Given the description of an element on the screen output the (x, y) to click on. 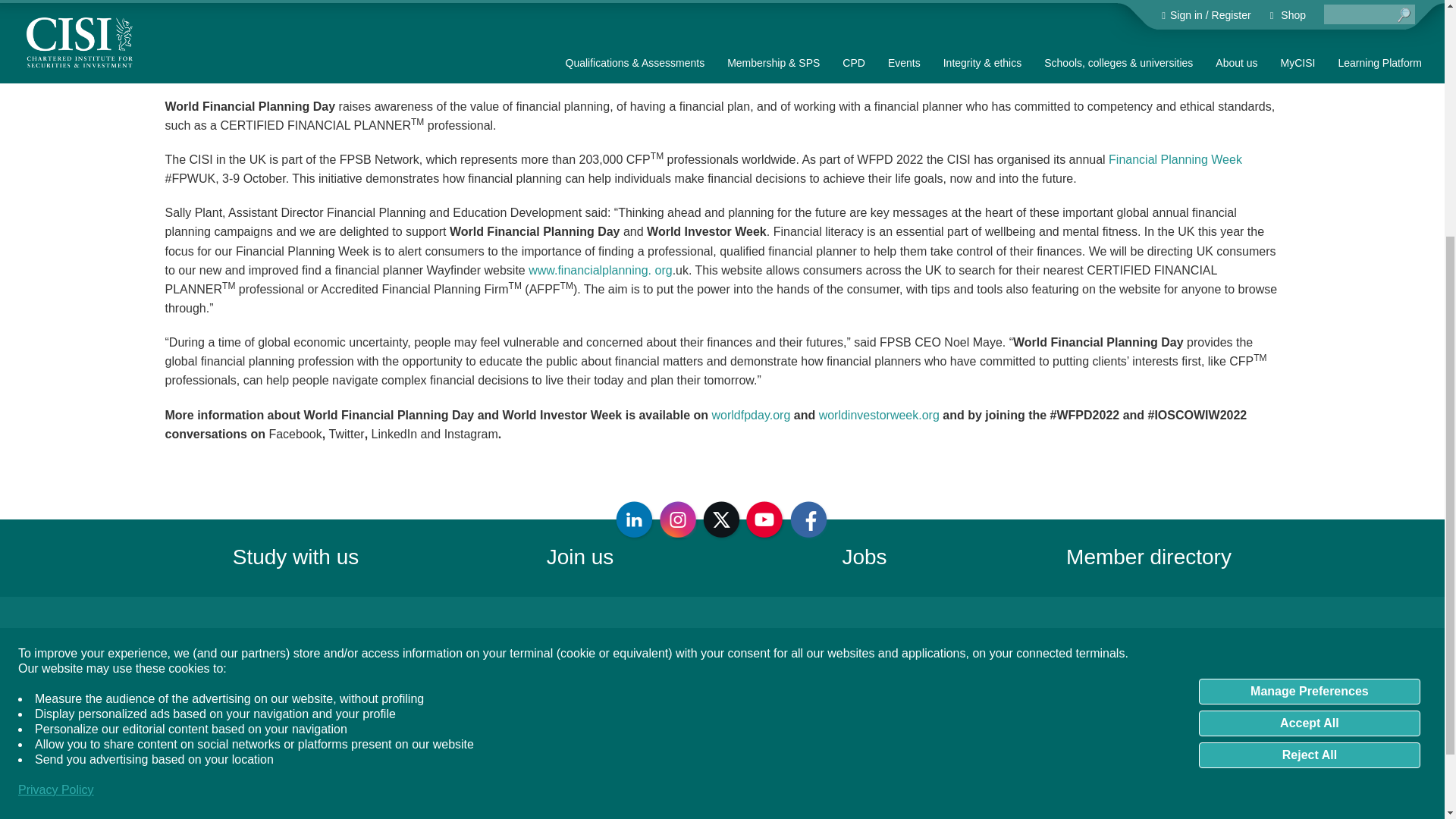
Manage Preferences (1309, 335)
Privacy Policy (55, 433)
Reject All (1309, 398)
Accept All (1309, 366)
